Given the description of an element on the screen output the (x, y) to click on. 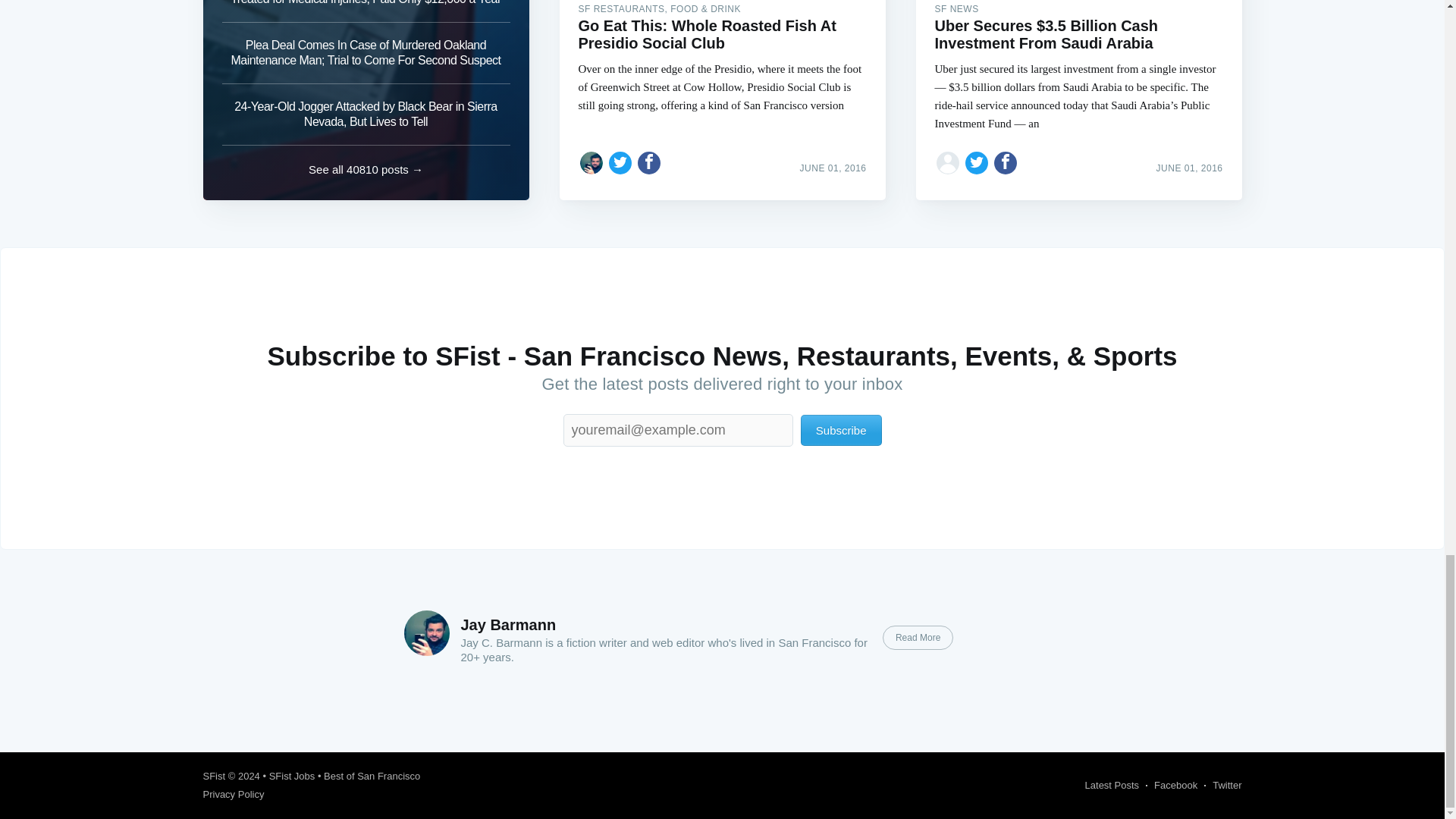
Share on Twitter (976, 162)
Share on Twitter (620, 162)
Share on Facebook (1004, 162)
Share on Facebook (649, 162)
